Given the description of an element on the screen output the (x, y) to click on. 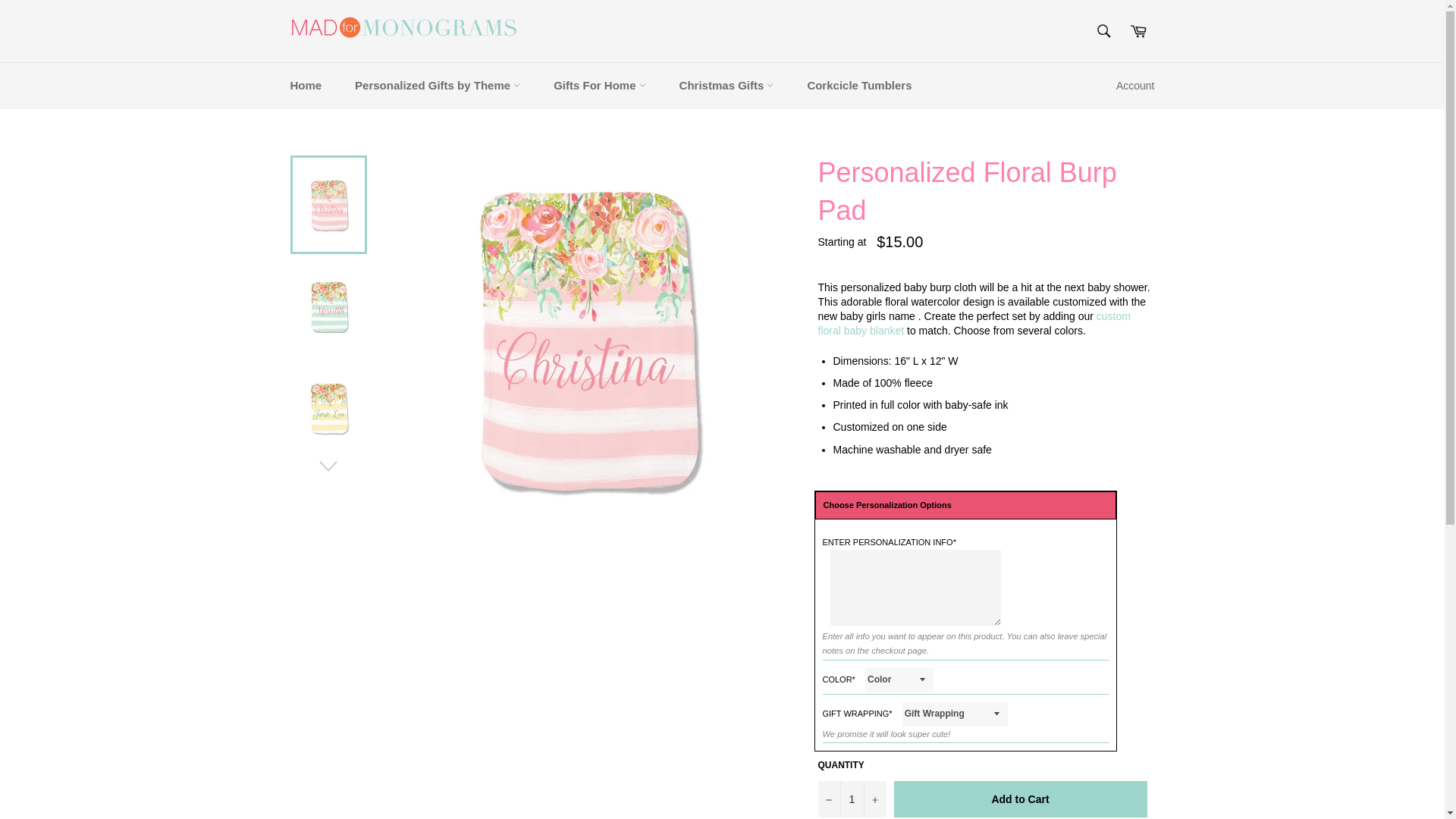
Personalized Baby Blanket (972, 323)
1 (850, 799)
